Given the description of an element on the screen output the (x, y) to click on. 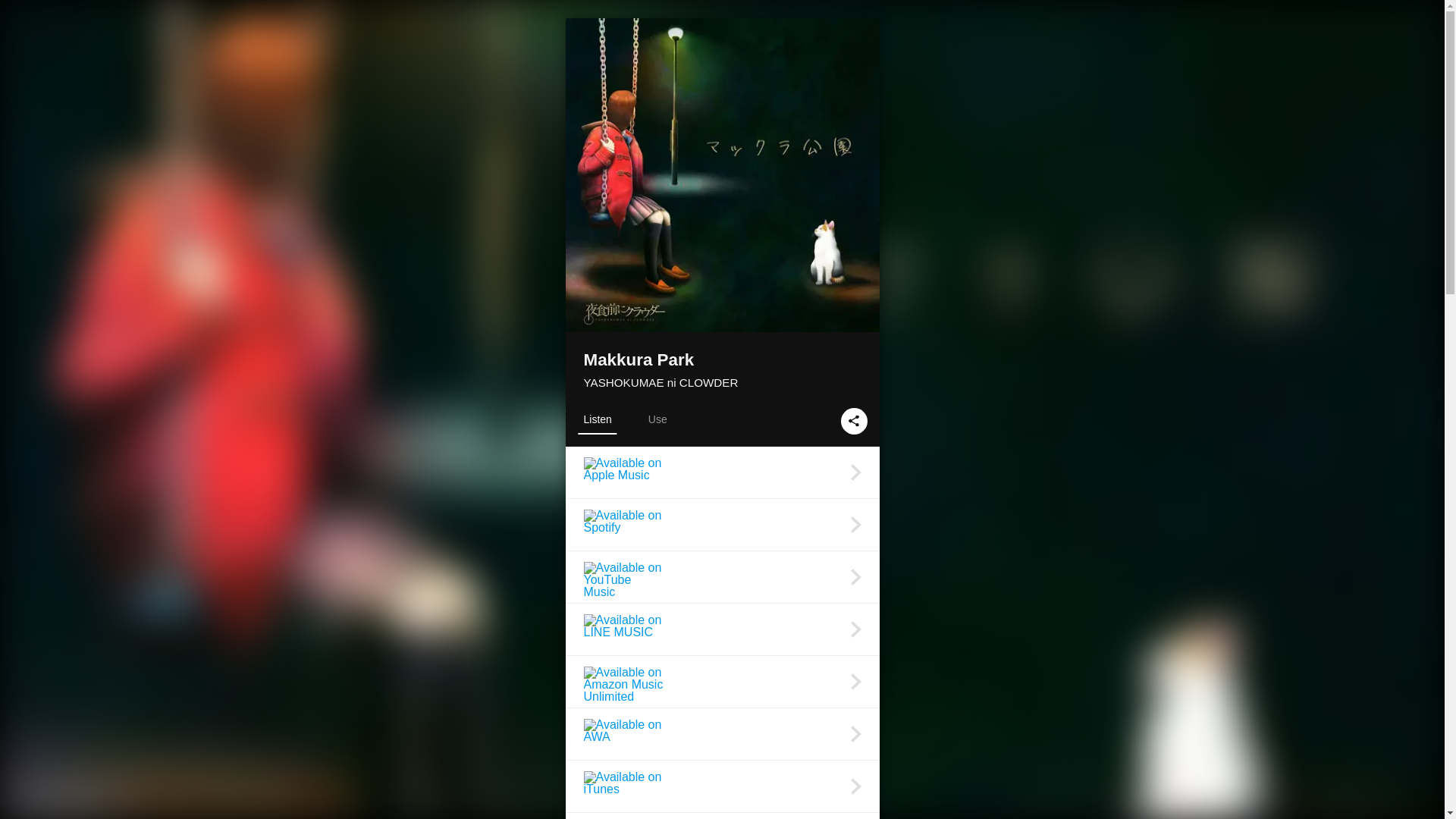
Available on Apple Music (722, 471)
Available on AWA (722, 734)
YASHOKUMAE ni CLOWDER (660, 382)
Available on Spotify (722, 524)
Available on Amazon Music (722, 816)
Available on Amazon Music Unlimited (722, 681)
Makkura Park (722, 360)
Available on YouTube Music (722, 576)
Available on LINE MUSIC (722, 629)
YASHOKUMAE ni CLOWDER (660, 382)
Available on iTunes (722, 786)
